Given the description of an element on the screen output the (x, y) to click on. 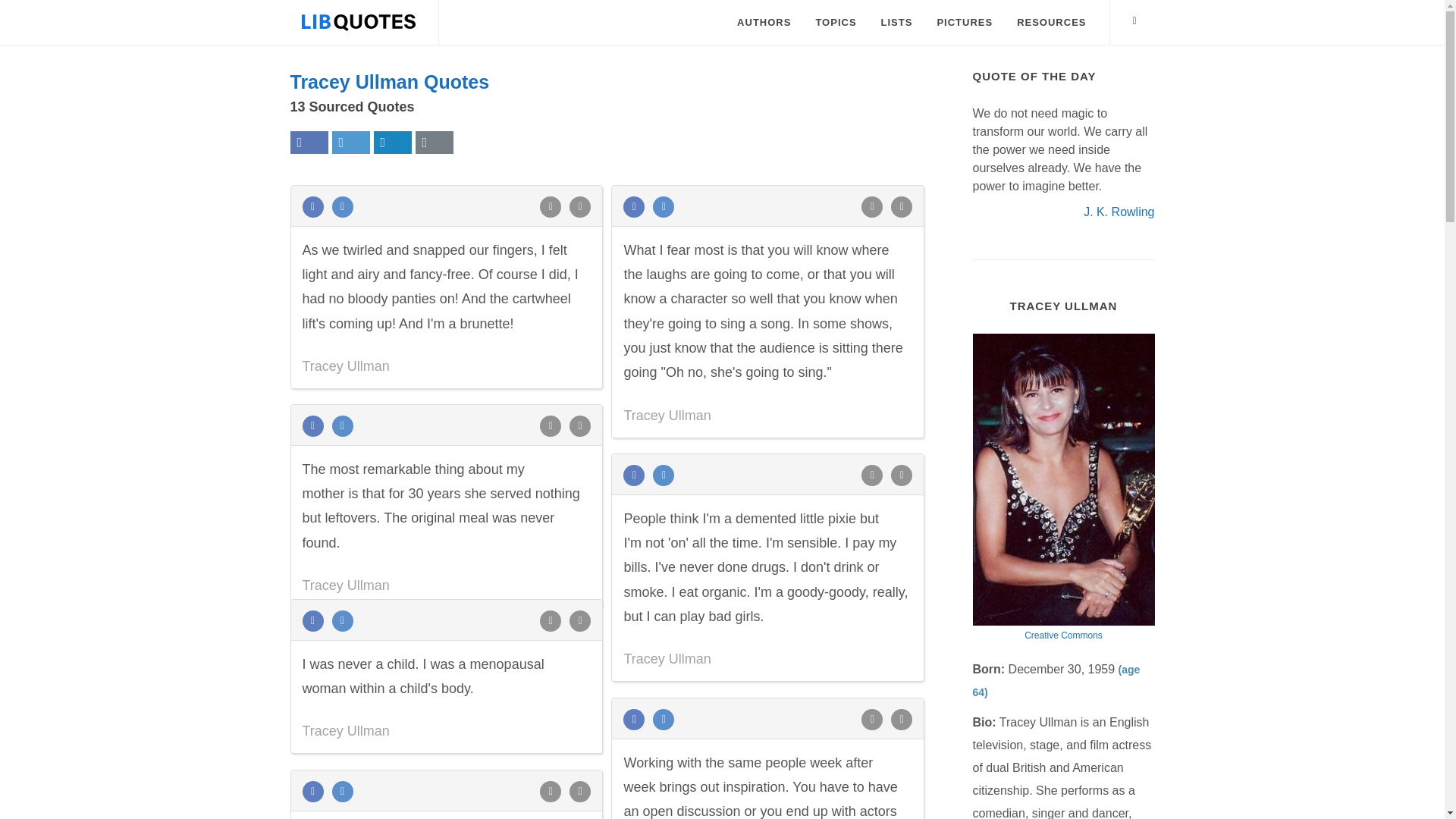
TOPICS (835, 22)
RESOURCES (1051, 22)
LISTS (896, 22)
PICTURES (964, 22)
AUTHORS (763, 22)
